Given the description of an element on the screen output the (x, y) to click on. 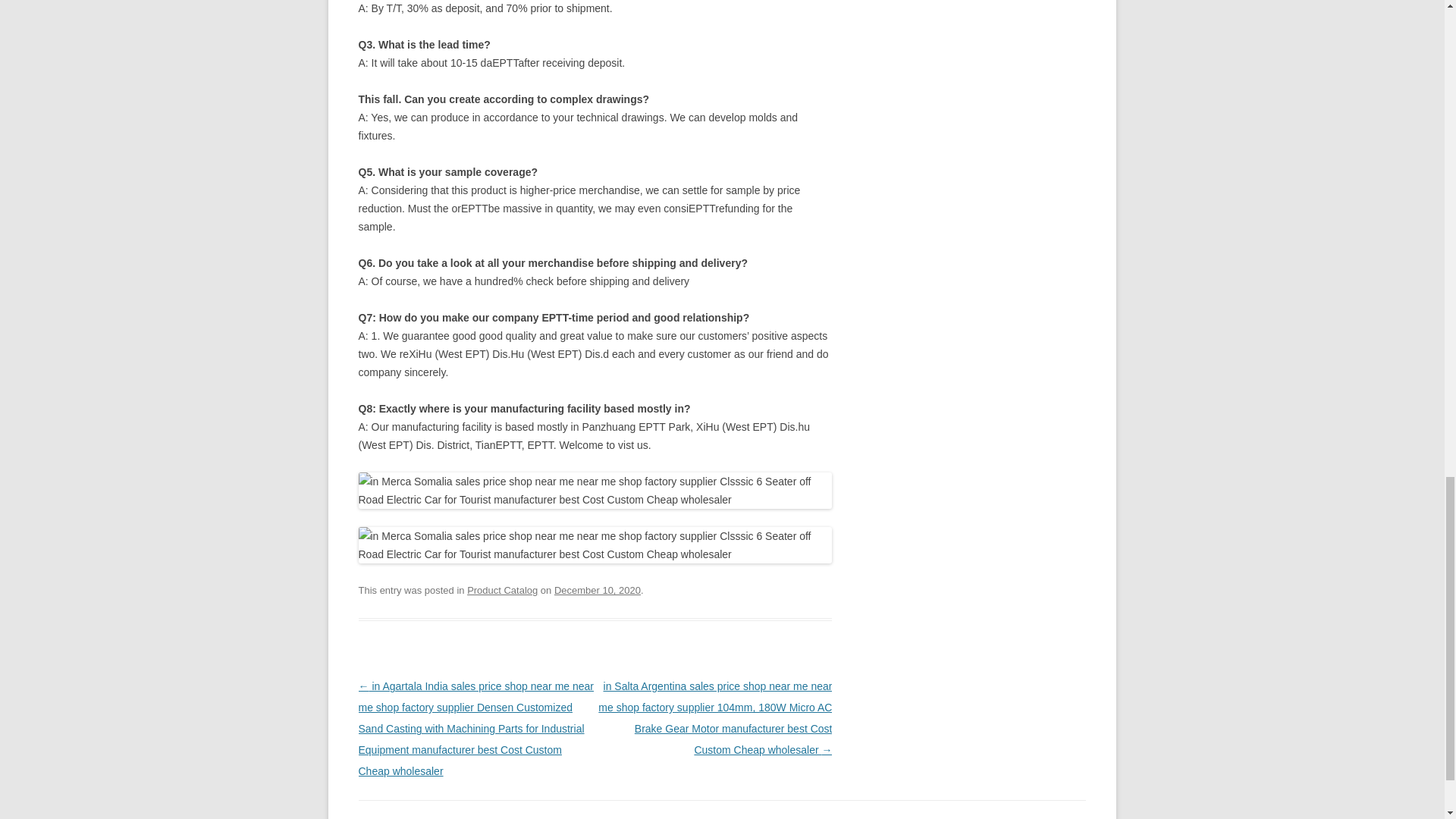
Product Catalog (502, 590)
December 10, 2020 (597, 590)
10:41 pm (597, 590)
